Given the description of an element on the screen output the (x, y) to click on. 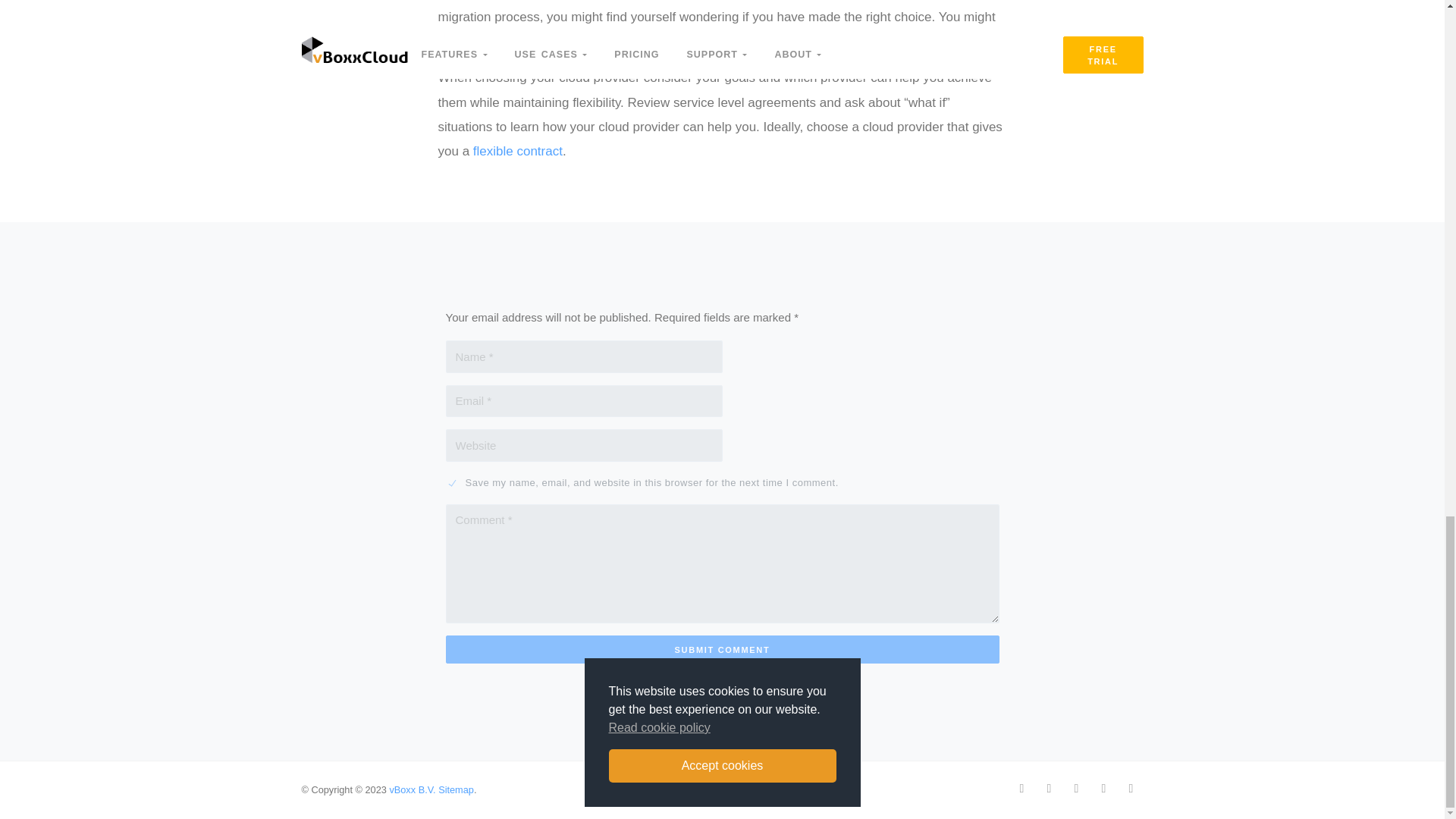
Submit Comment (721, 649)
